Given the description of an element on the screen output the (x, y) to click on. 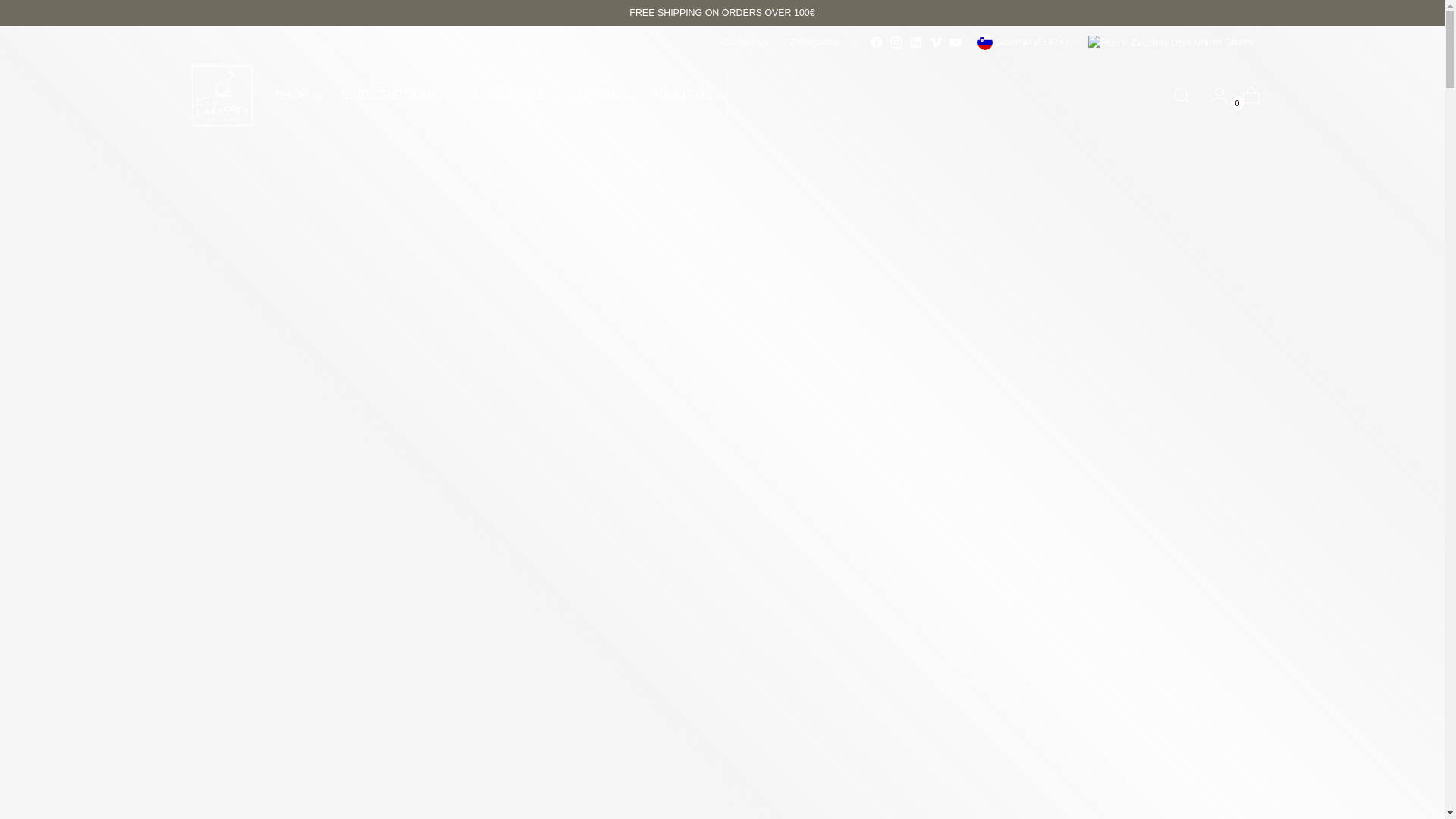
Contact Us (745, 41)
Filicori Zecchini Italia on Facebook (511, 94)
Filicori Zecchini Italia on YouTube (876, 42)
Filicori Zecchini Italia on LinkedIn (955, 42)
Filicori Zecchini Italia on Vimeo (915, 42)
FZ Magazine (935, 42)
Filicori Zecchini Italia on Instagram (812, 41)
